Given the description of an element on the screen output the (x, y) to click on. 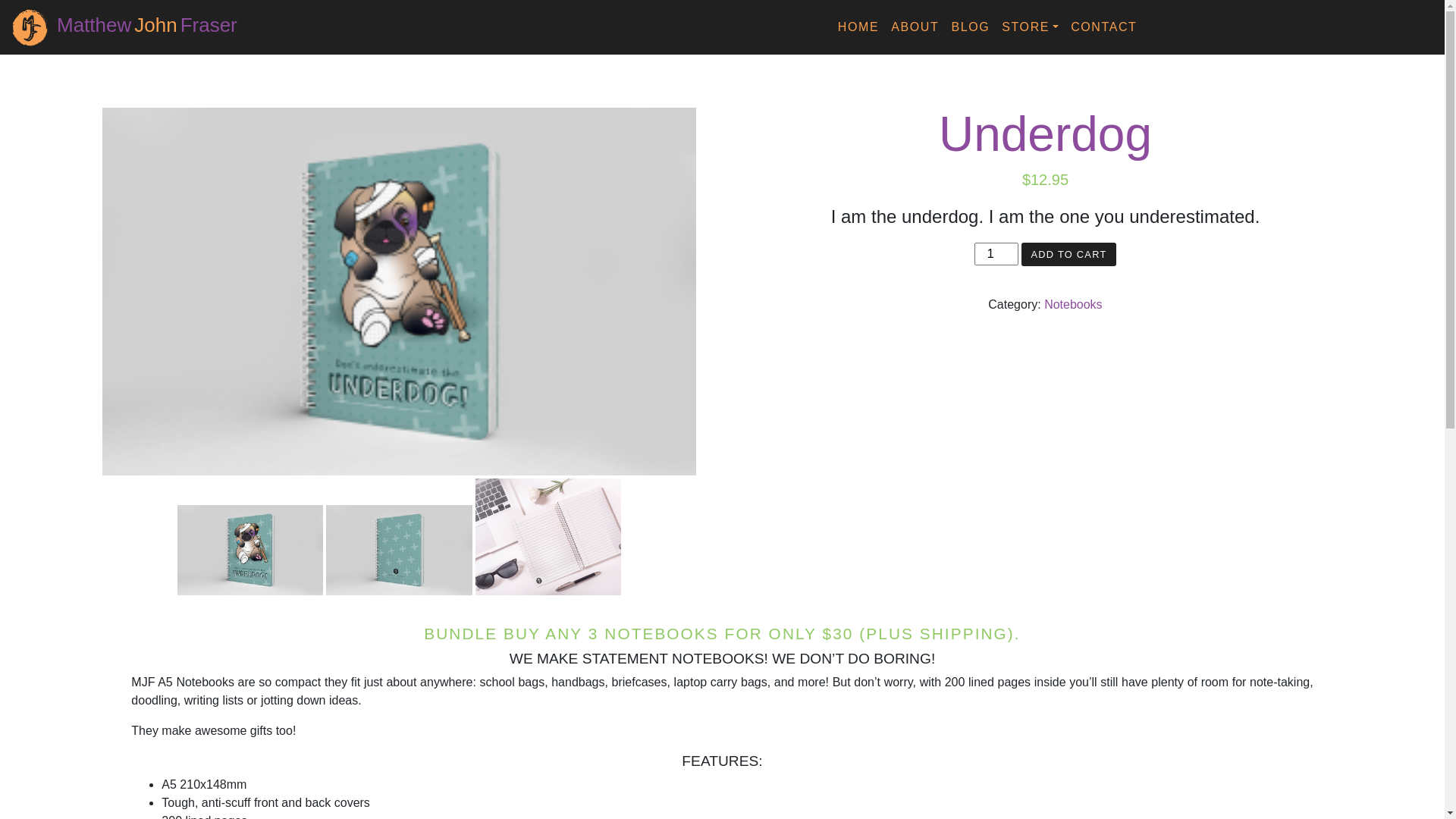
MatthewJohnFraser Element type: text (146, 24)
STORE Element type: text (1029, 27)
ADD TO CART Element type: text (1069, 254)
UnderDog Element type: hover (250, 550)
BLOG Element type: text (969, 27)
UnderDog Element type: hover (398, 291)
CONTACT Element type: text (1103, 27)
HOME Element type: text (857, 27)
Pattern Element type: hover (399, 550)
ABOUT Element type: text (914, 27)
Notebooks Element type: text (1073, 304)
NotebookDemo Element type: hover (548, 536)
